Given the description of an element on the screen output the (x, y) to click on. 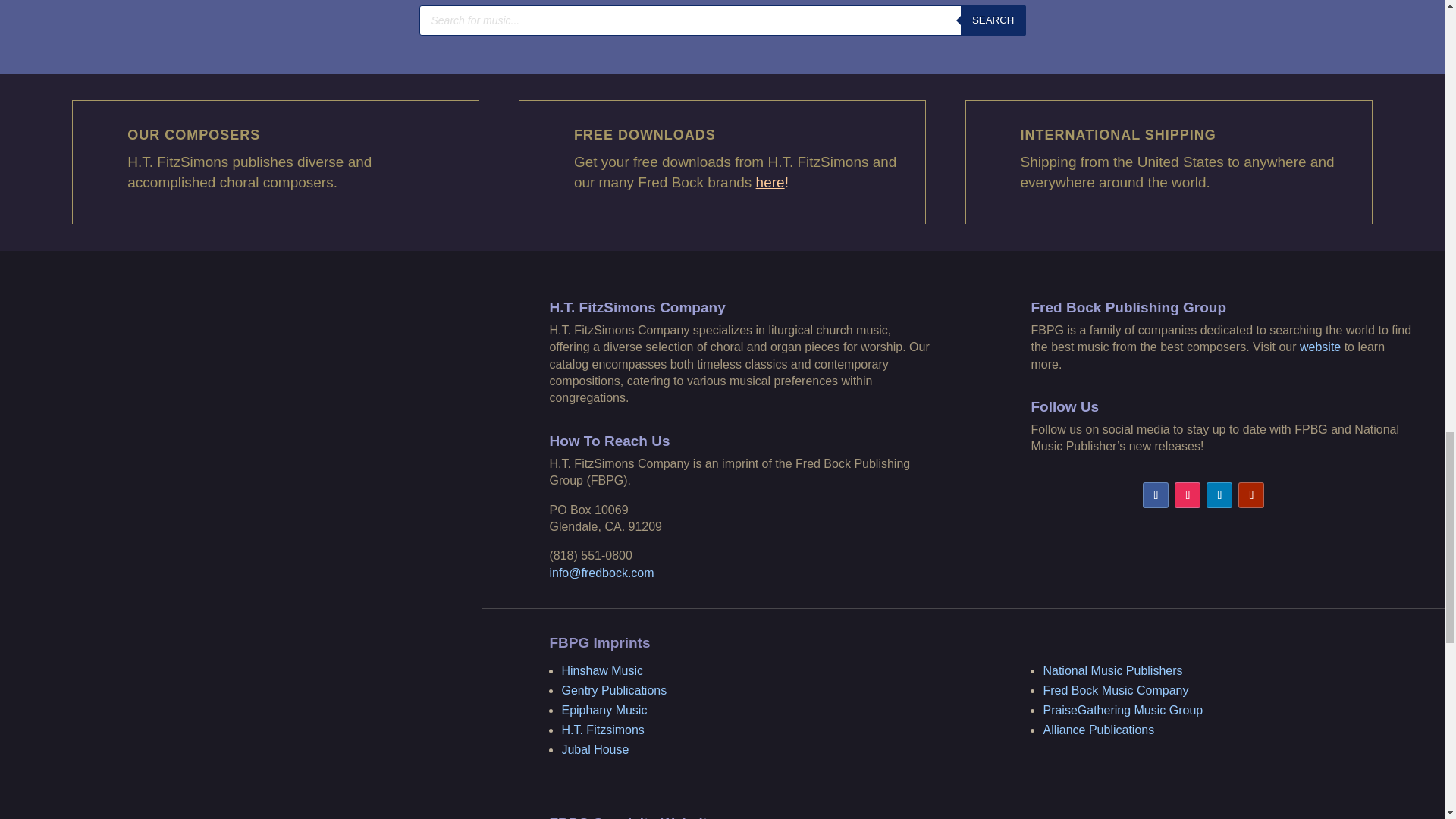
Follow on Facebook (1155, 494)
SEARCH (993, 20)
Follow on LinkedIn (1219, 494)
Follow on Instagram (1186, 494)
Follow on Youtube (1251, 494)
